Given the description of an element on the screen output the (x, y) to click on. 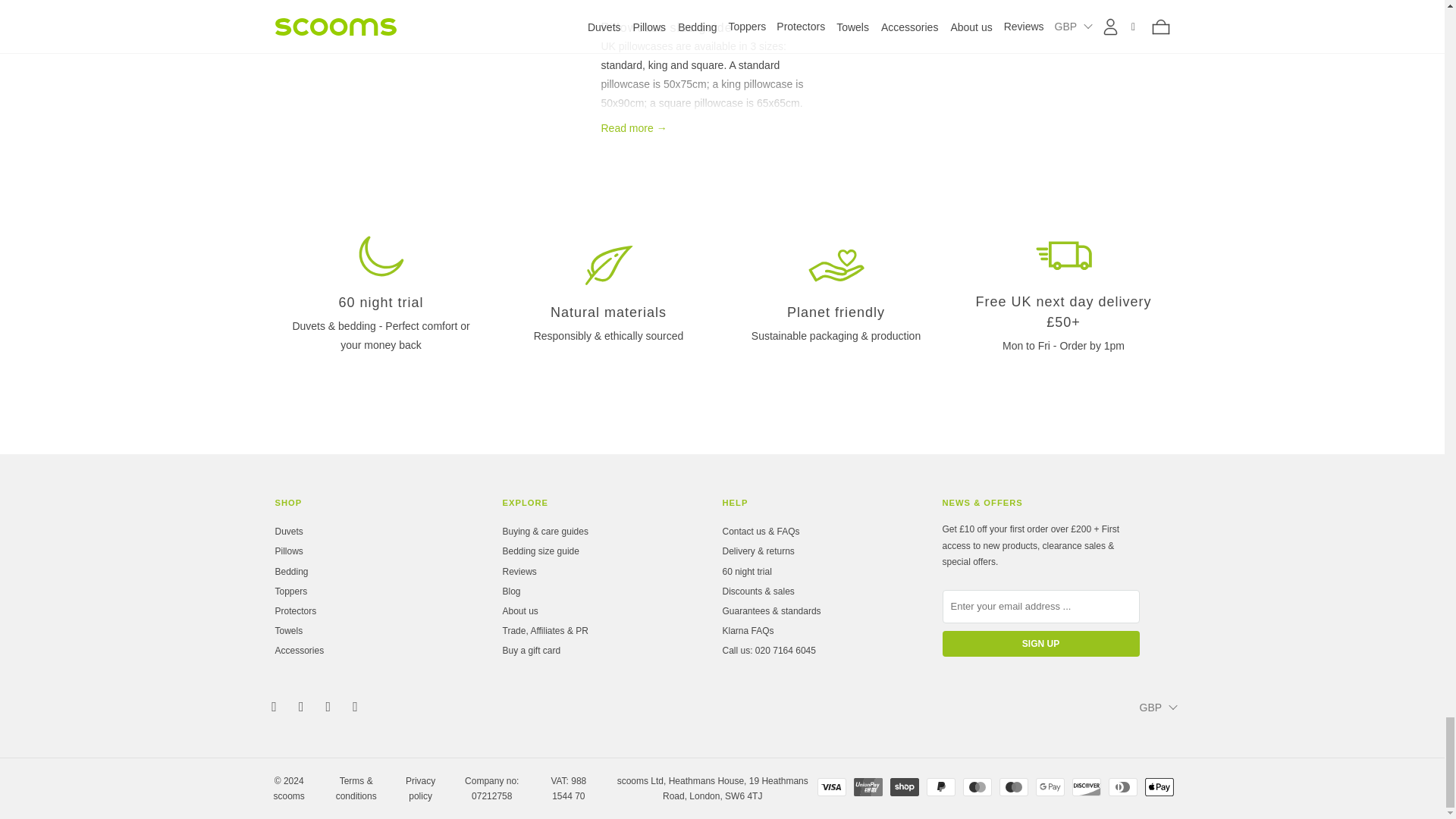
Free delivery (1062, 255)
Natural materials (608, 265)
PayPal (940, 787)
Apple Pay (1158, 787)
Responsibility (835, 265)
Diners Club (1122, 787)
Mastercard (976, 787)
Union Pay (867, 787)
60 night trial (380, 256)
Google Pay (1049, 787)
